Given the description of an element on the screen output the (x, y) to click on. 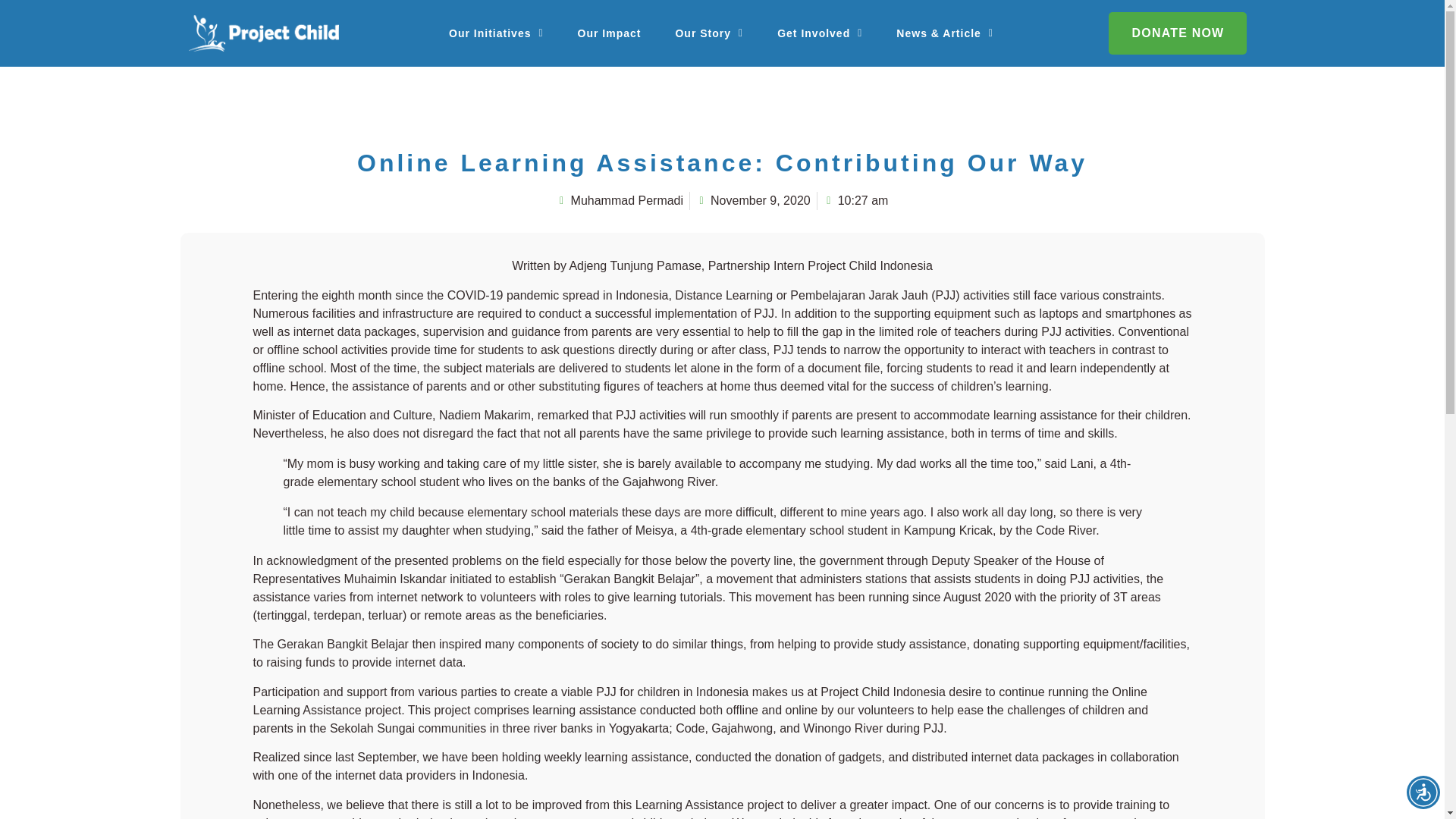
Our Initiatives (495, 33)
Accessibility Menu (1422, 792)
Our Story (708, 33)
Our Impact (609, 33)
Get Involved (819, 33)
